Given the description of an element on the screen output the (x, y) to click on. 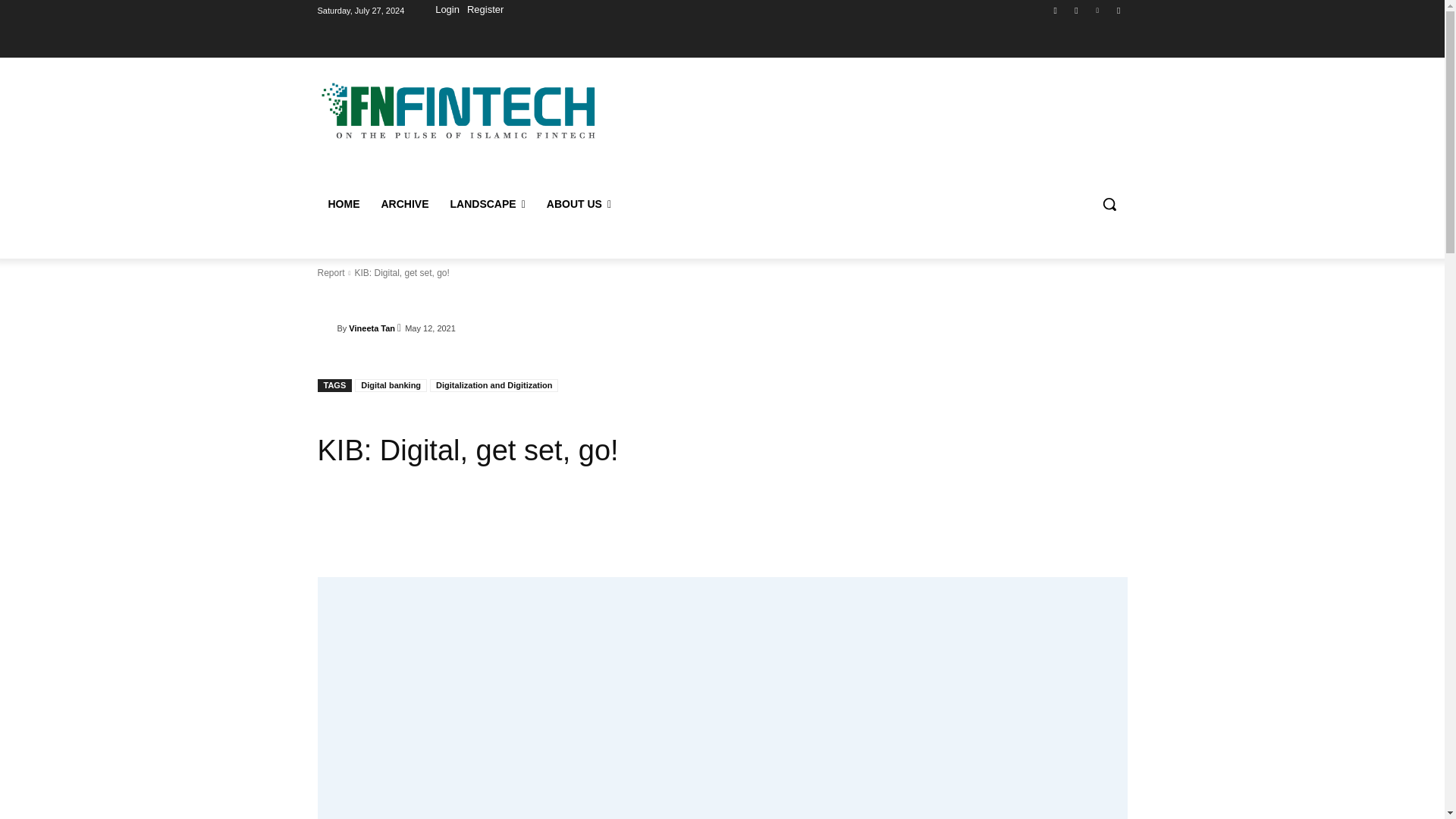
LANDSCAPE (487, 203)
Vineeta Tan (326, 328)
Instagram (1075, 9)
Vineeta Tan (371, 327)
HOME (343, 203)
Linkedin (1097, 9)
Digitalization and Digitization (493, 385)
ABOUT US (578, 203)
Report (330, 272)
Twitter (1117, 9)
ARCHIVE (404, 203)
Login (446, 11)
View all posts in Report (330, 272)
Digital banking (390, 385)
Facebook (1055, 9)
